Given the description of an element on the screen output the (x, y) to click on. 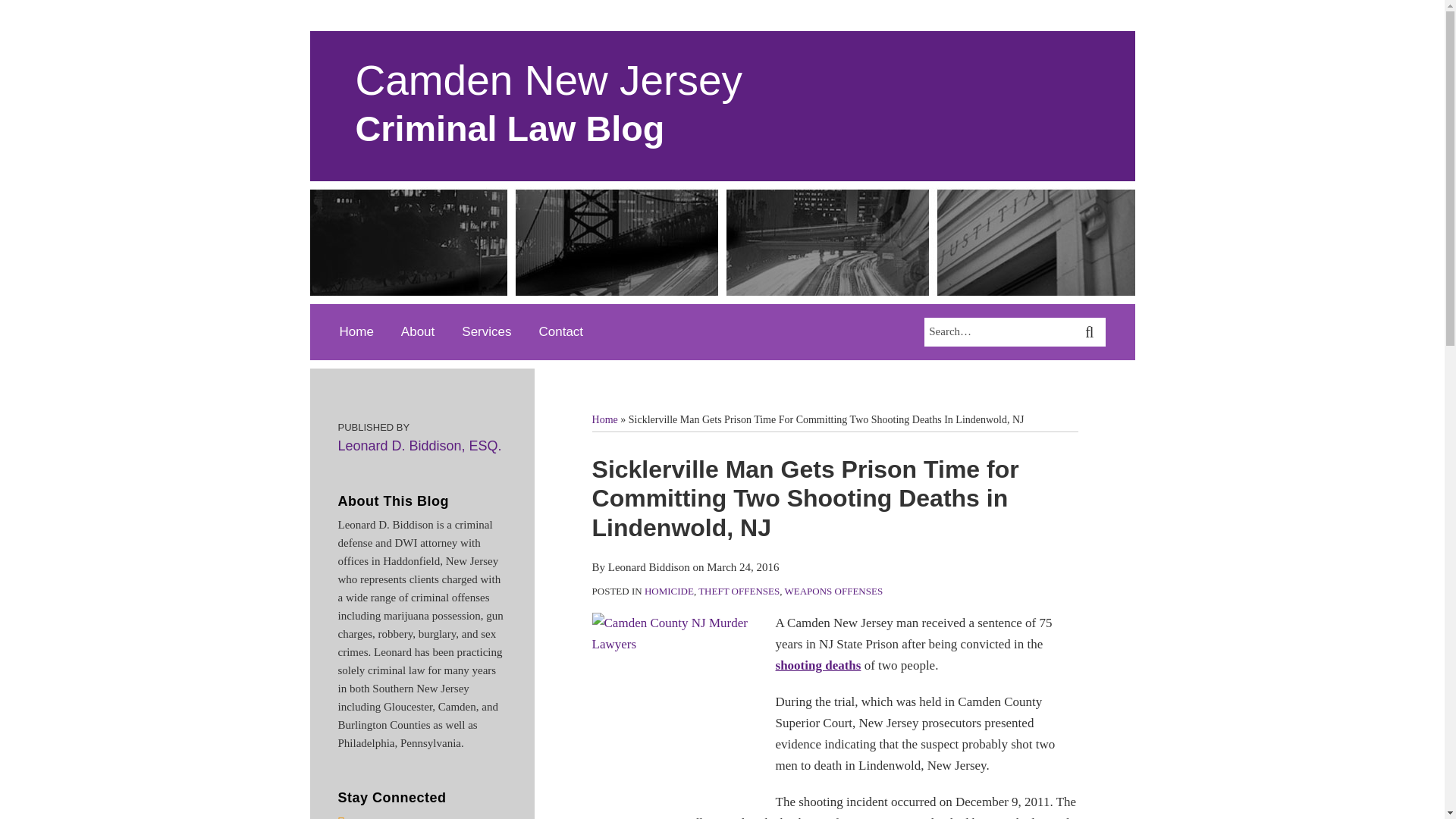
WEAPONS OFFENSES (833, 591)
Services (486, 331)
HOMICIDE (669, 591)
Home (604, 419)
shooting deaths (818, 665)
Leonard D. Biddison, ESQ. (419, 445)
THEFT OFFENSES (738, 591)
RSS (341, 816)
Contact (560, 331)
Camden New Jersey Criminal Law Blog (548, 102)
Home (356, 331)
Camden County NJ Murder Lawyers (676, 696)
SEARCH (1091, 331)
About (417, 331)
